Given the description of an element on the screen output the (x, y) to click on. 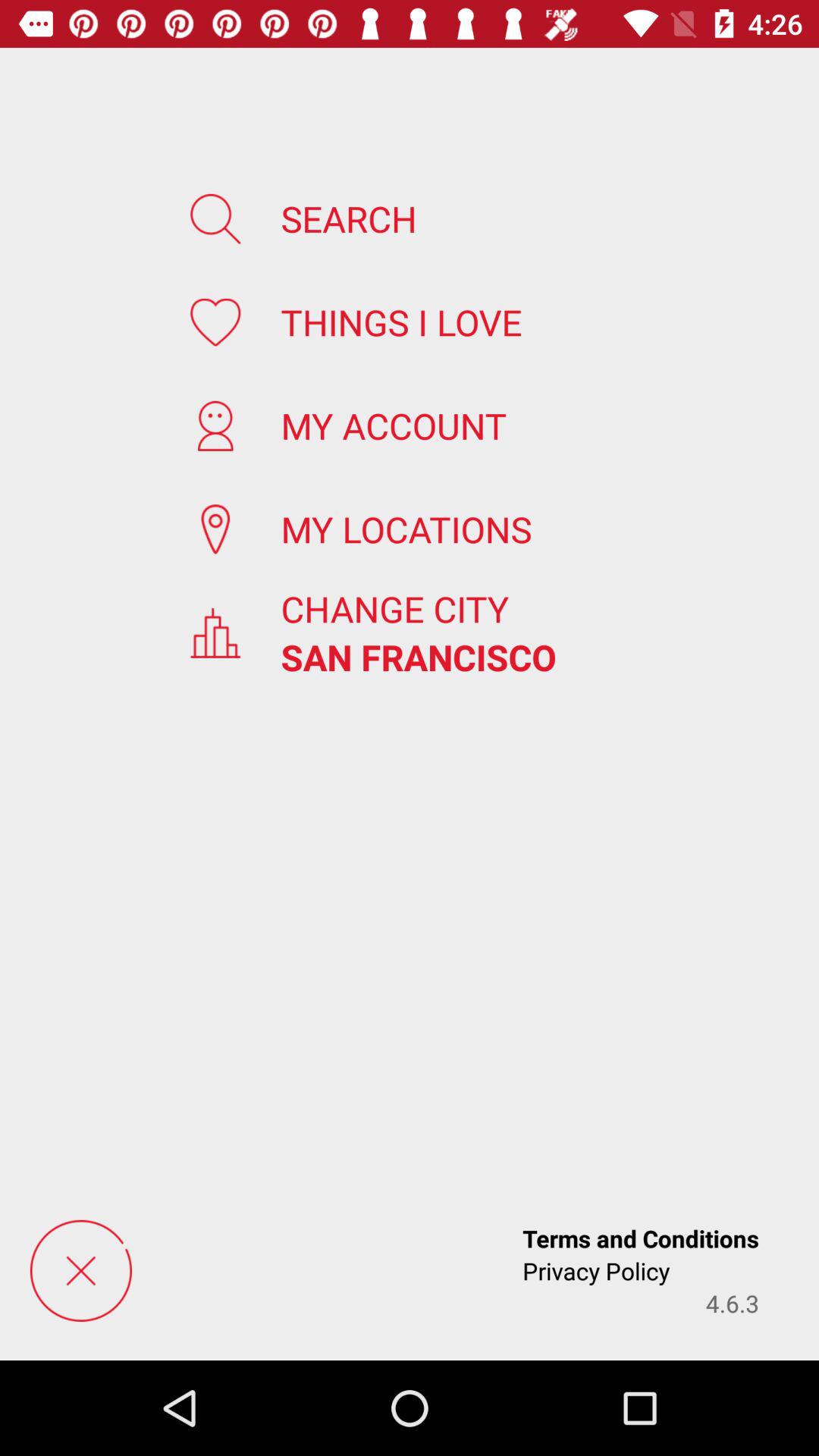
turn off the icon above my locations item (393, 425)
